Given the description of an element on the screen output the (x, y) to click on. 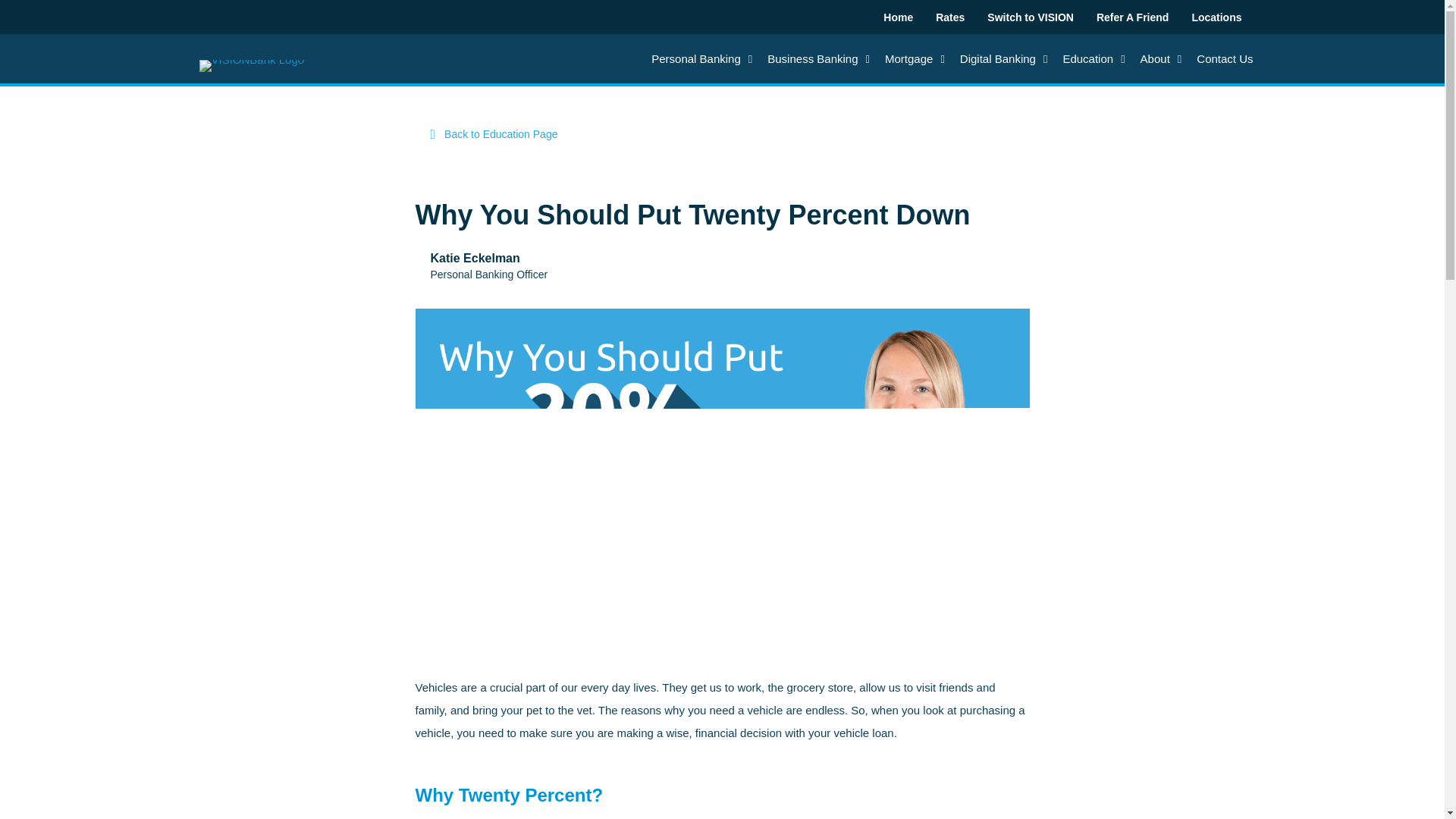
VISIONBank-logo (251, 65)
Rates (950, 17)
Business Banking (818, 58)
Education (1093, 58)
Home (898, 17)
Personal Banking (701, 58)
Refer A Friend (1132, 17)
Digital Banking (1003, 58)
Switch to VISION (1030, 17)
